Given the description of an element on the screen output the (x, y) to click on. 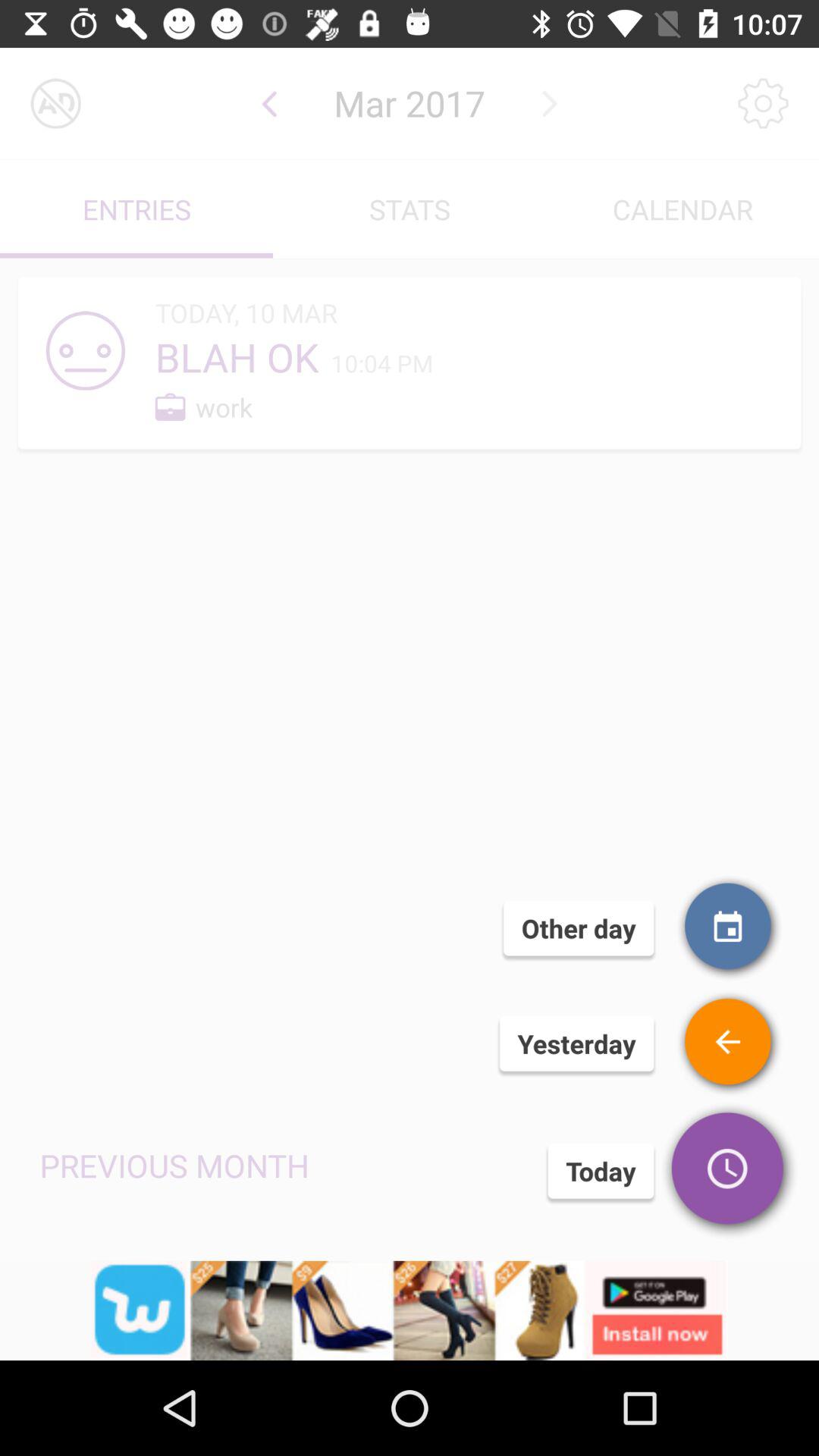
turn off advertisements (55, 103)
